Given the description of an element on the screen output the (x, y) to click on. 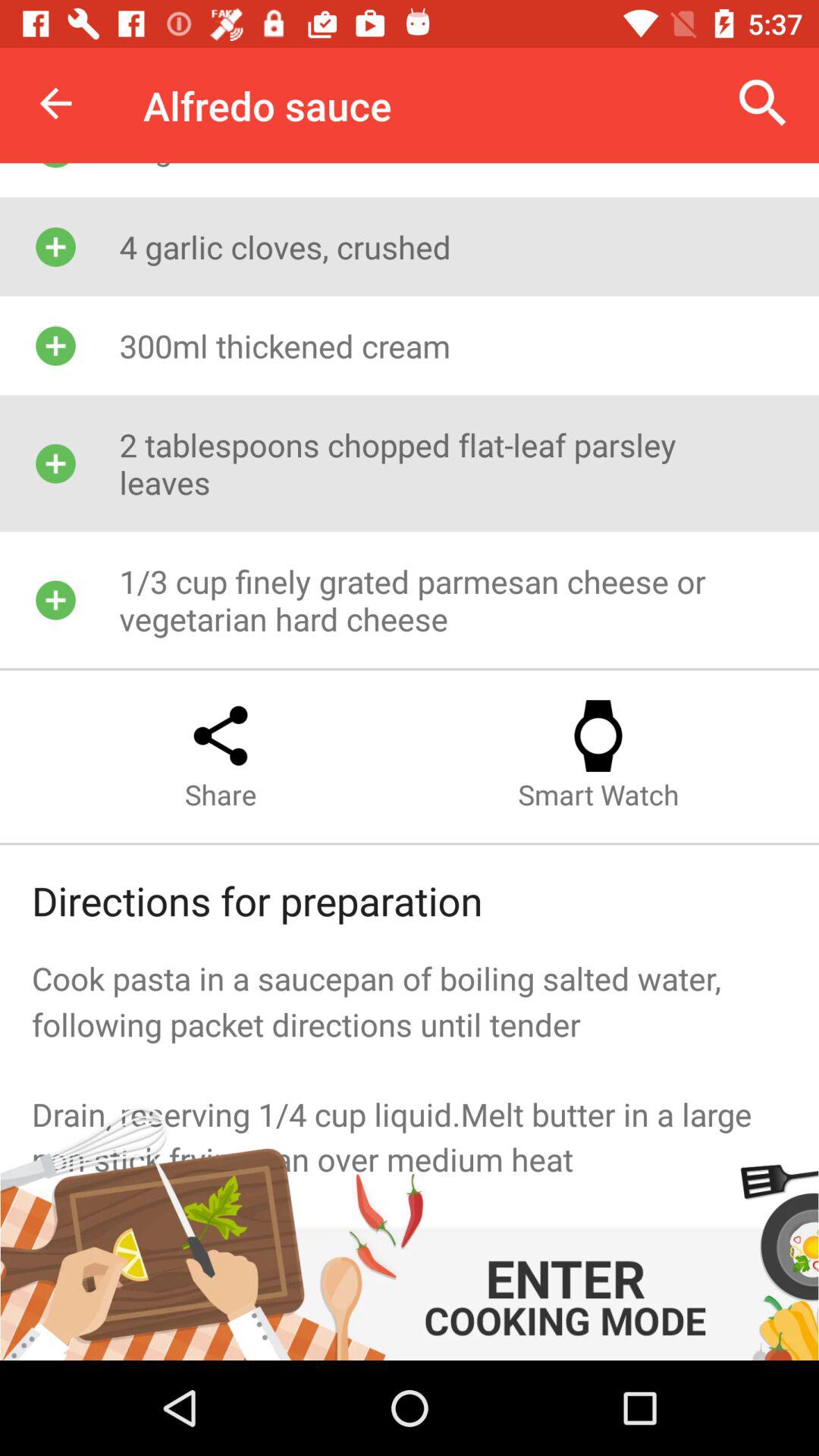
select the icon above the 25g butter icon (763, 103)
